Given the description of an element on the screen output the (x, y) to click on. 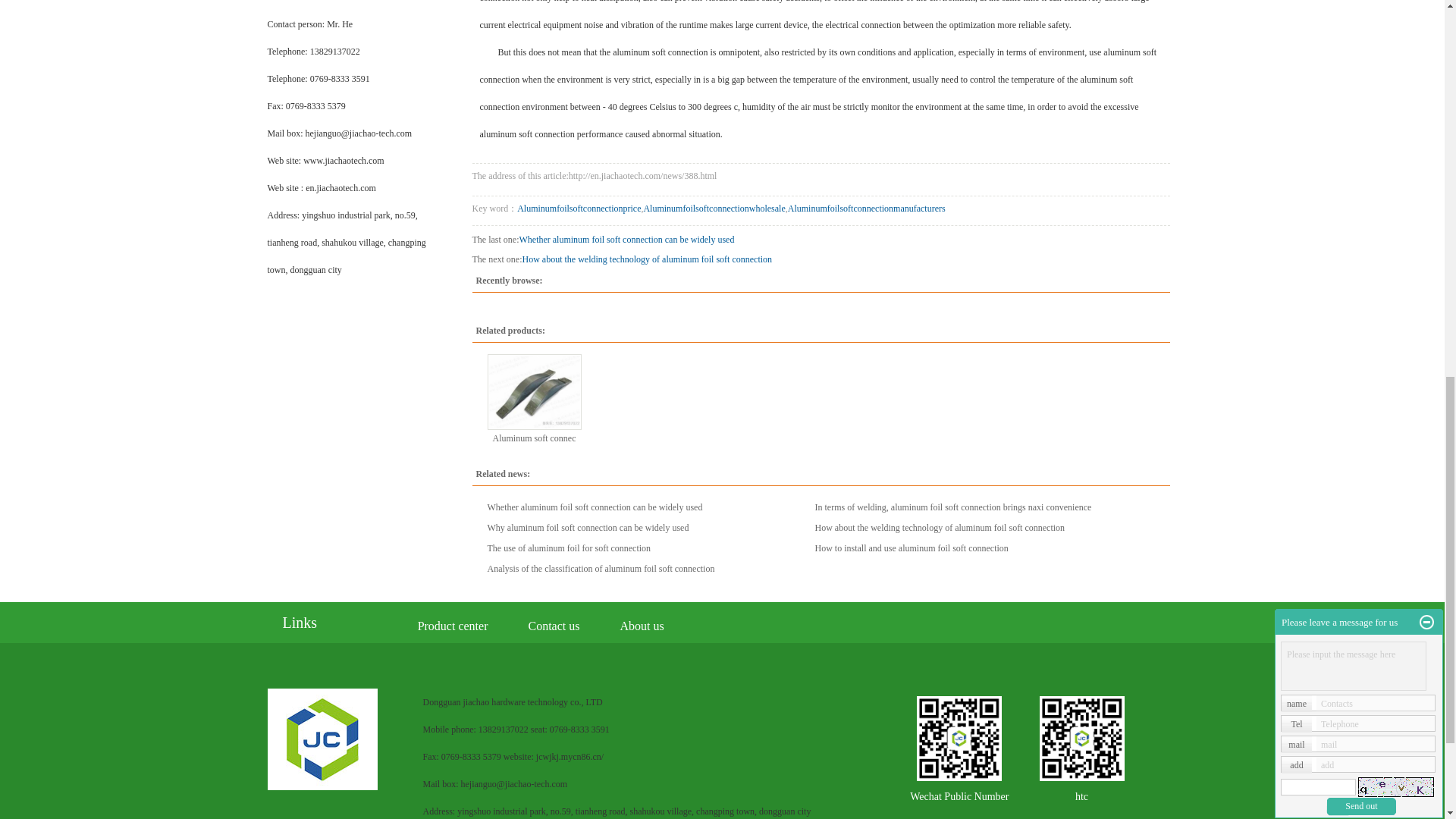
Aluminum soft connection (534, 438)
Aluminum soft connection (533, 391)
Whether aluminum foil soft connection can be widely used (593, 507)
